Given the description of an element on the screen output the (x, y) to click on. 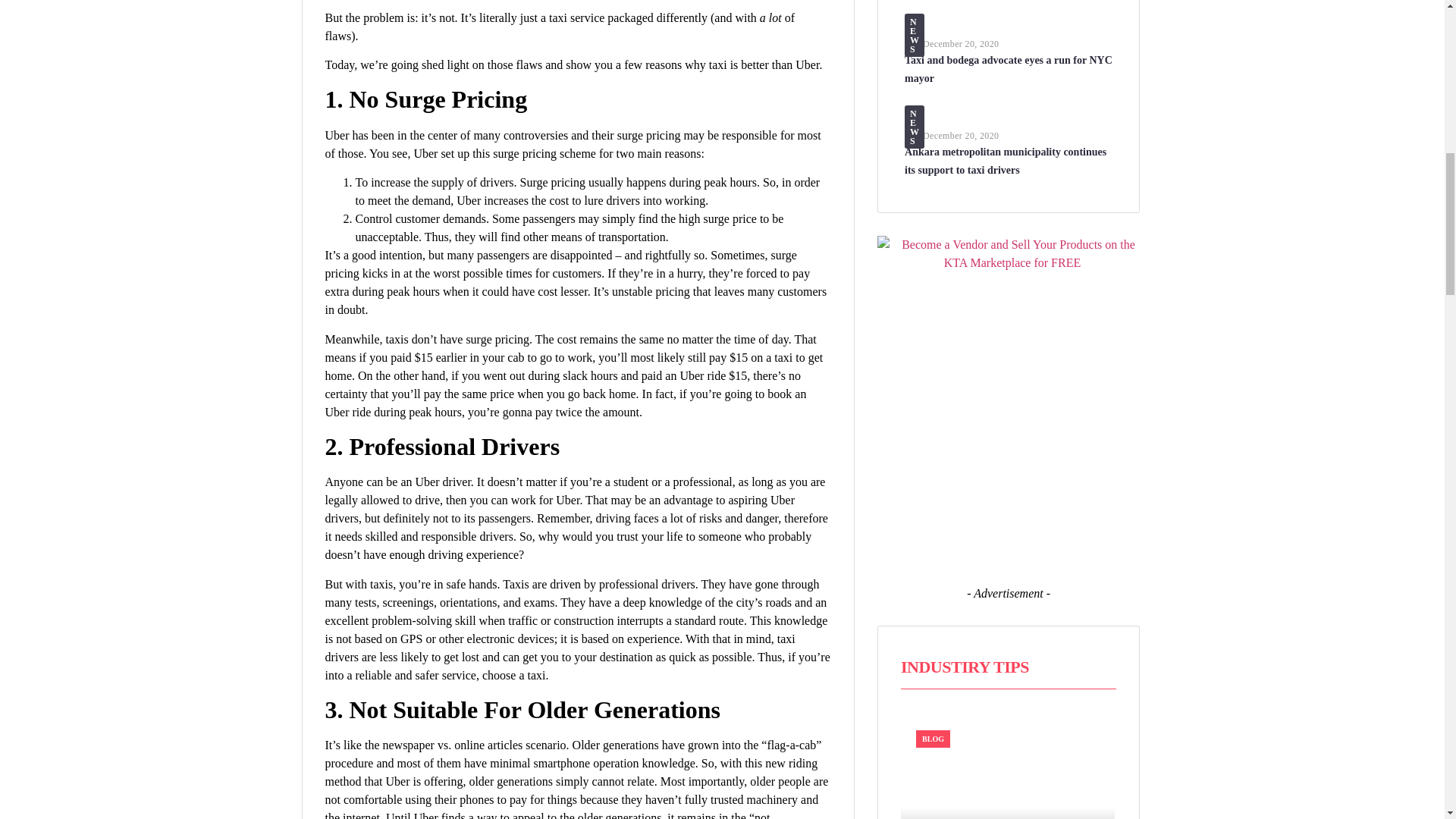
2020-12-20T19:57:22-06:00 (960, 135)
2020-12-20T20:27:58-06:00 (960, 43)
